Given the description of an element on the screen output the (x, y) to click on. 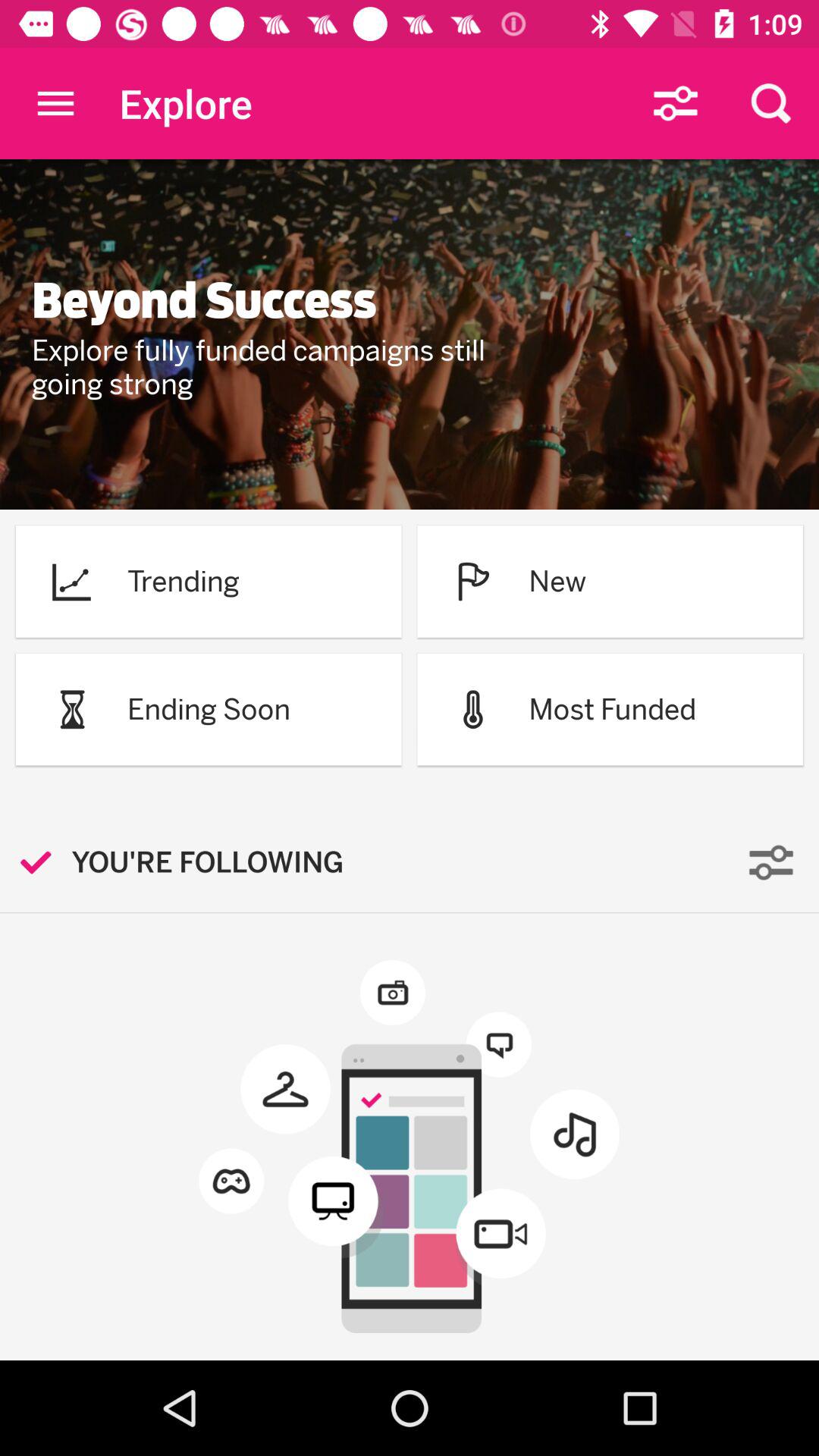
click the item below beyond success item (278, 367)
